Given the description of an element on the screen output the (x, y) to click on. 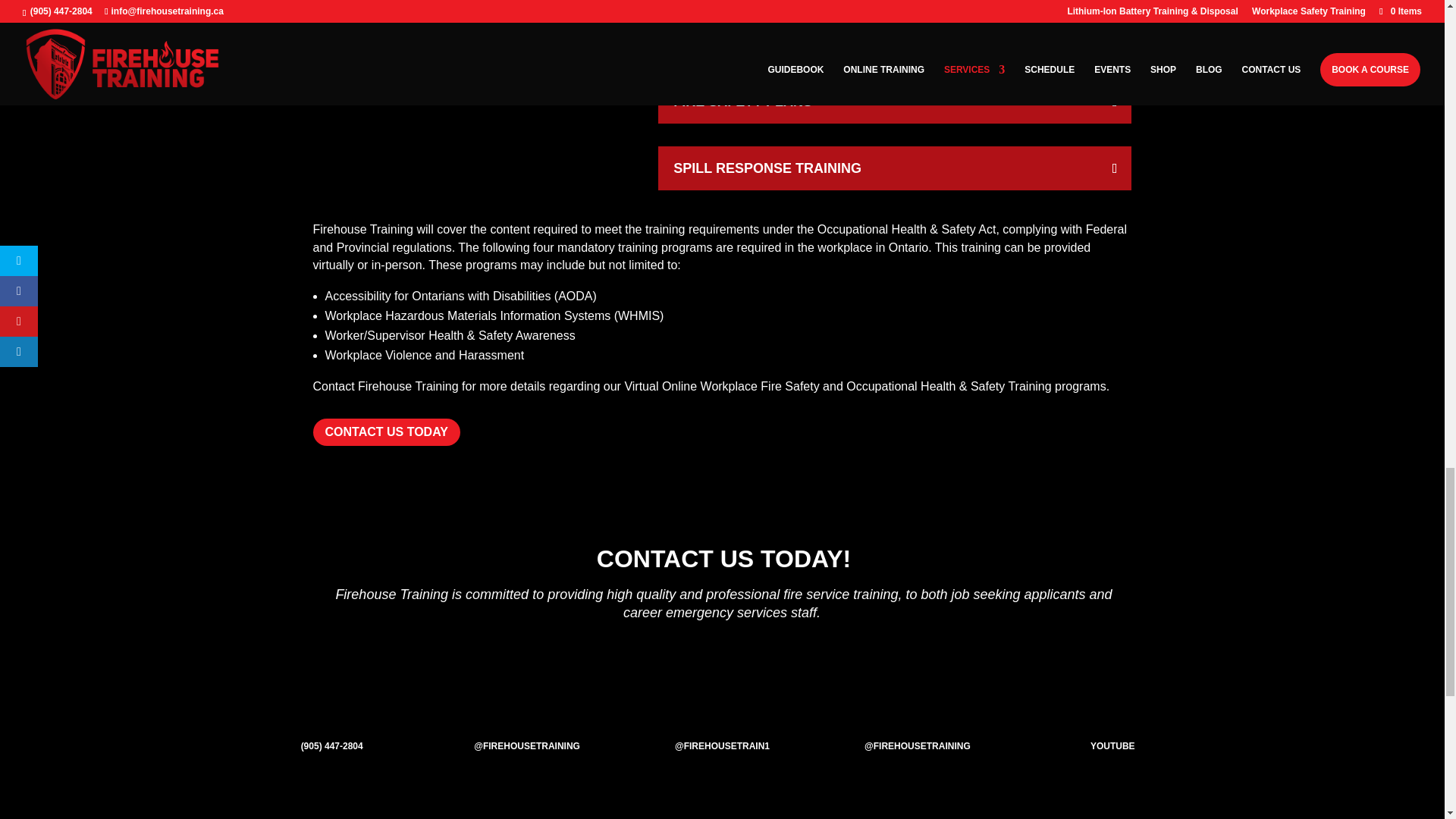
CONTACT US TODAY (386, 432)
